Given the description of an element on the screen output the (x, y) to click on. 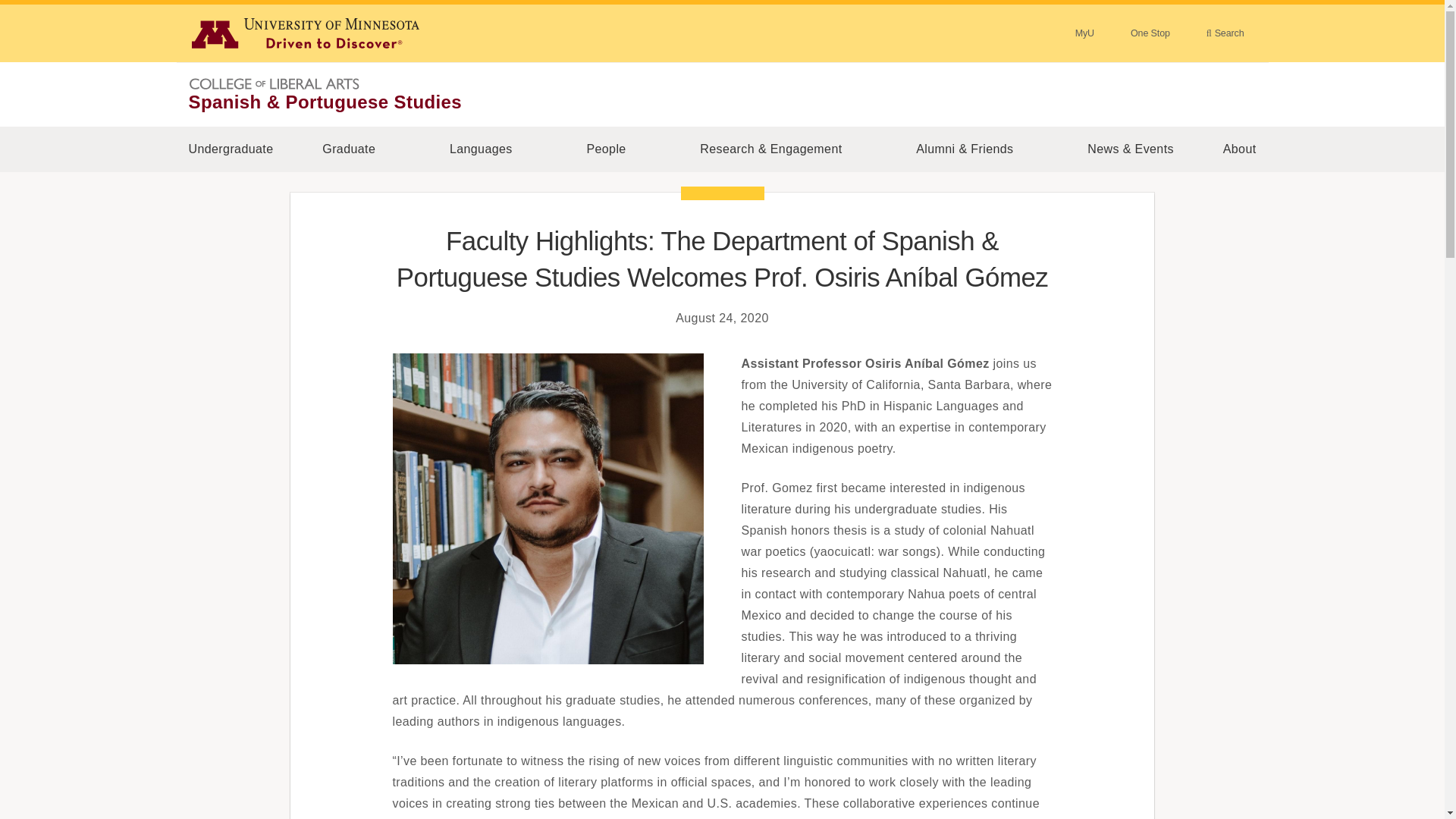
About (1239, 148)
Skip to main content (8, 9)
Toggle Search Region Visisbility (1224, 32)
Languages (481, 148)
MyU (1084, 32)
People (606, 148)
Search (1224, 32)
Graduate (348, 148)
One Stop (1150, 32)
Undergraduate (230, 148)
